Given the description of an element on the screen output the (x, y) to click on. 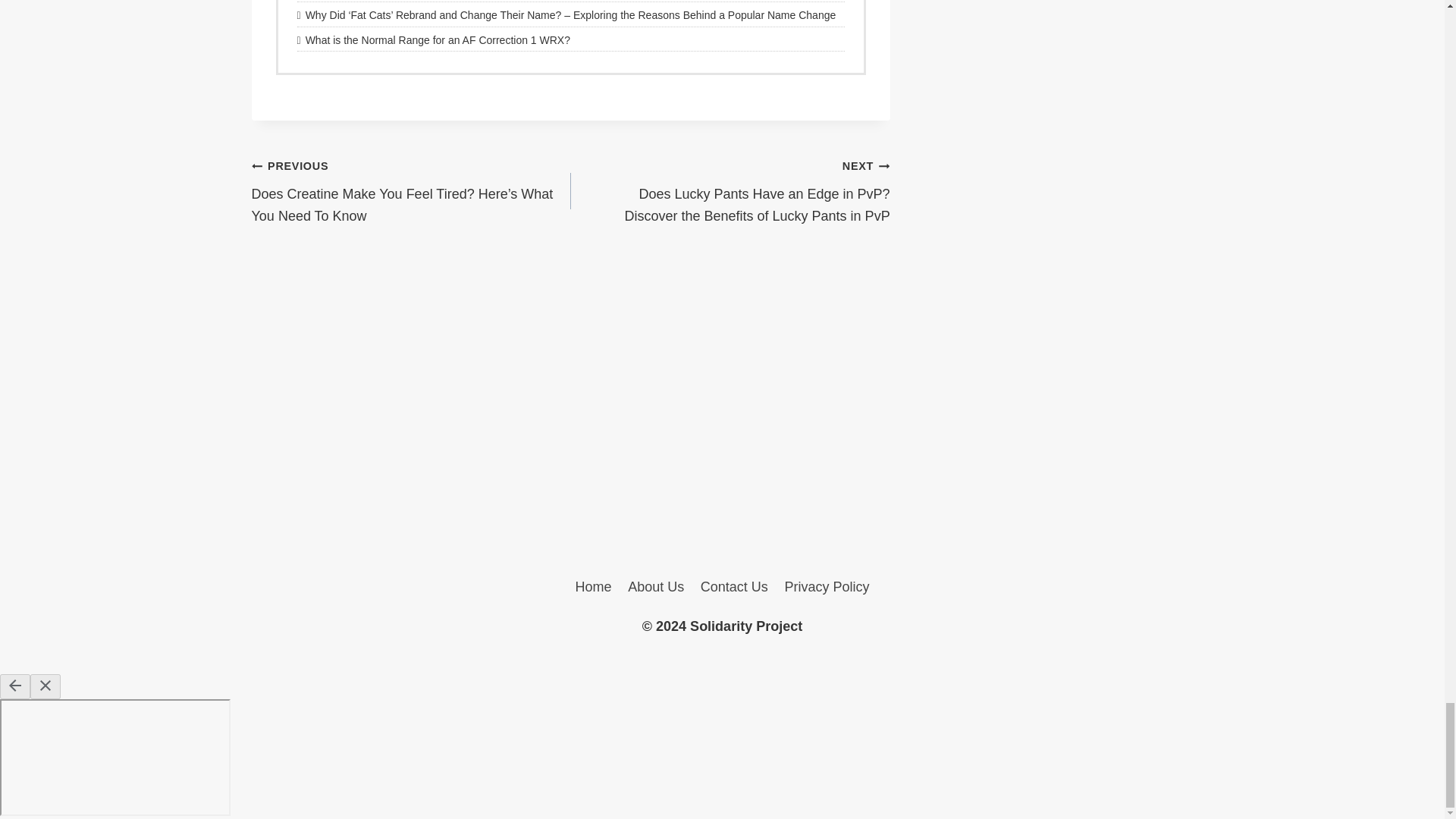
Home (593, 587)
What is the Normal Range for an AF Correction 1 WRX? (570, 39)
Privacy Policy (826, 587)
Contact Us (734, 587)
About Us (656, 587)
